Given the description of an element on the screen output the (x, y) to click on. 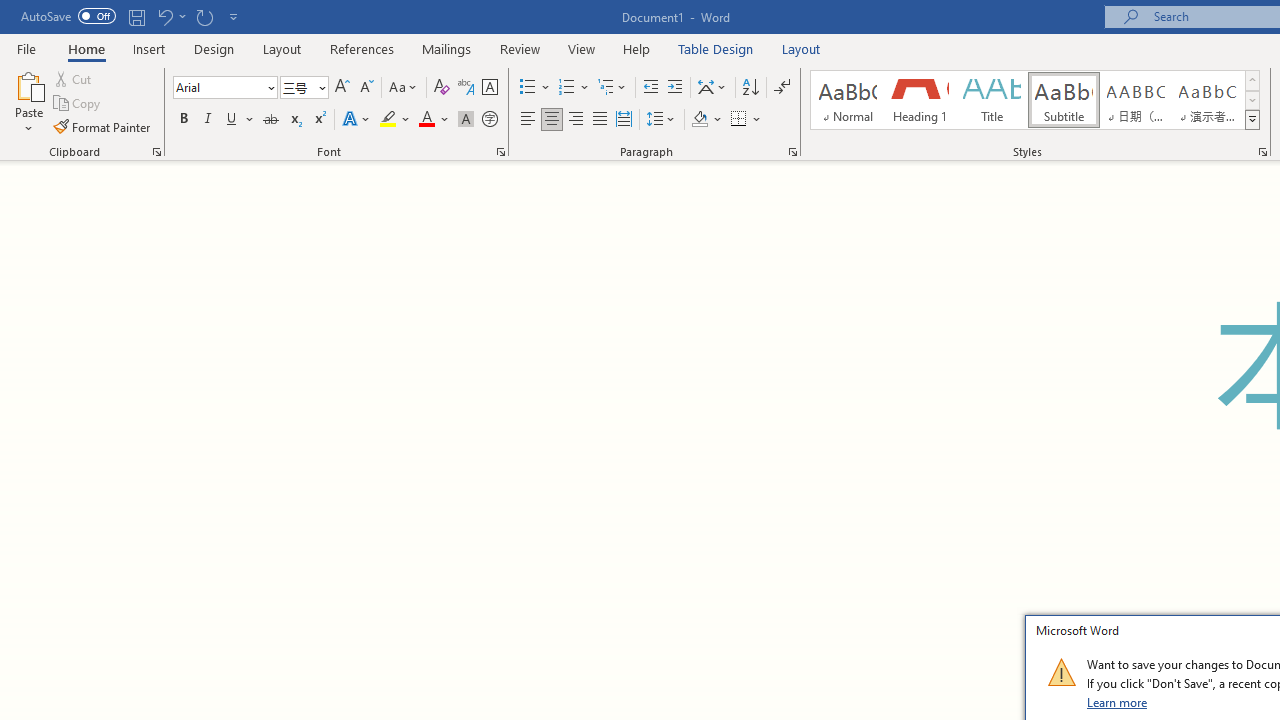
Undo Paste (164, 15)
